Given the description of an element on the screen output the (x, y) to click on. 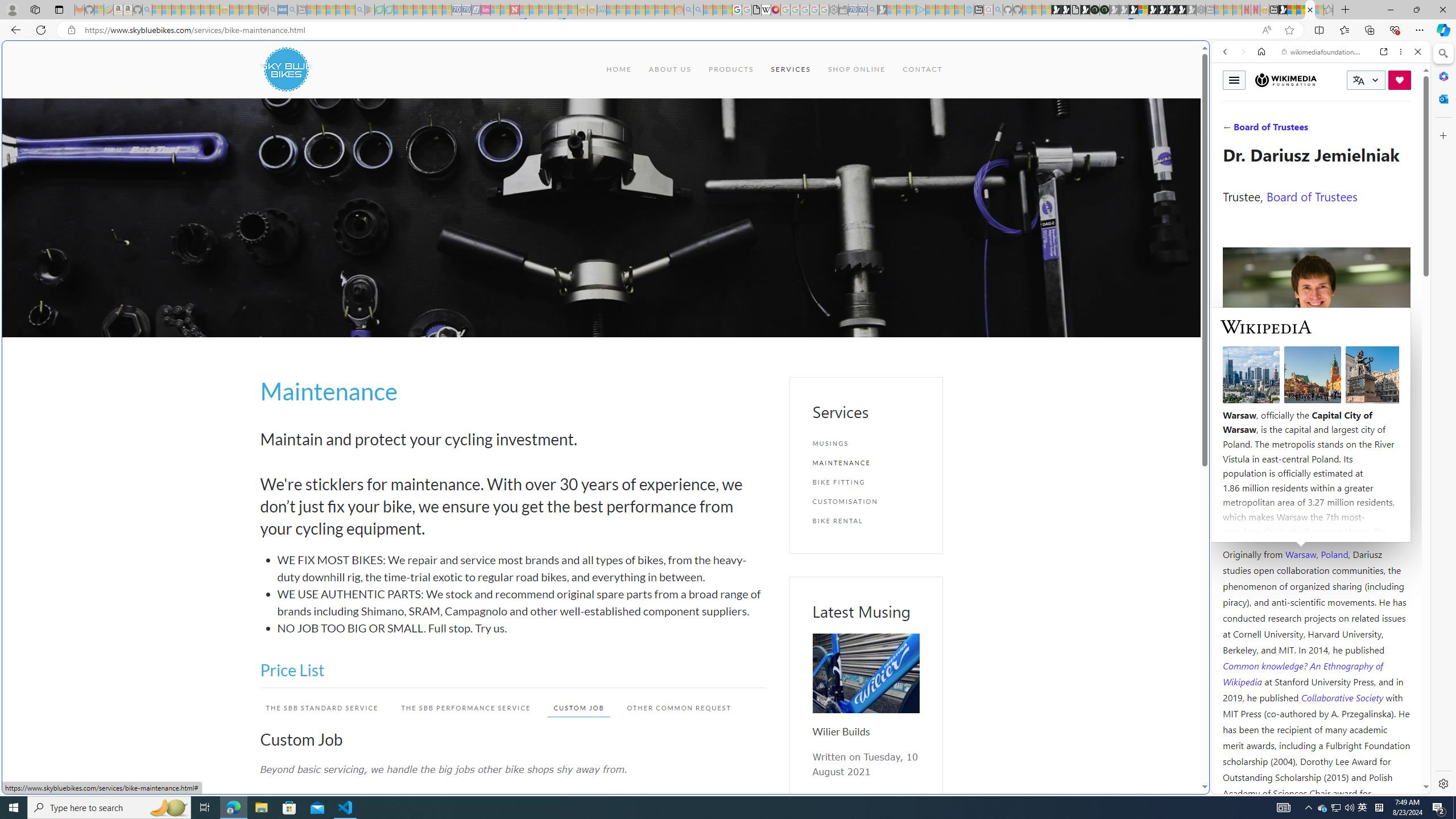
SEARCH TOOLS (1350, 130)
